Given the description of an element on the screen output the (x, y) to click on. 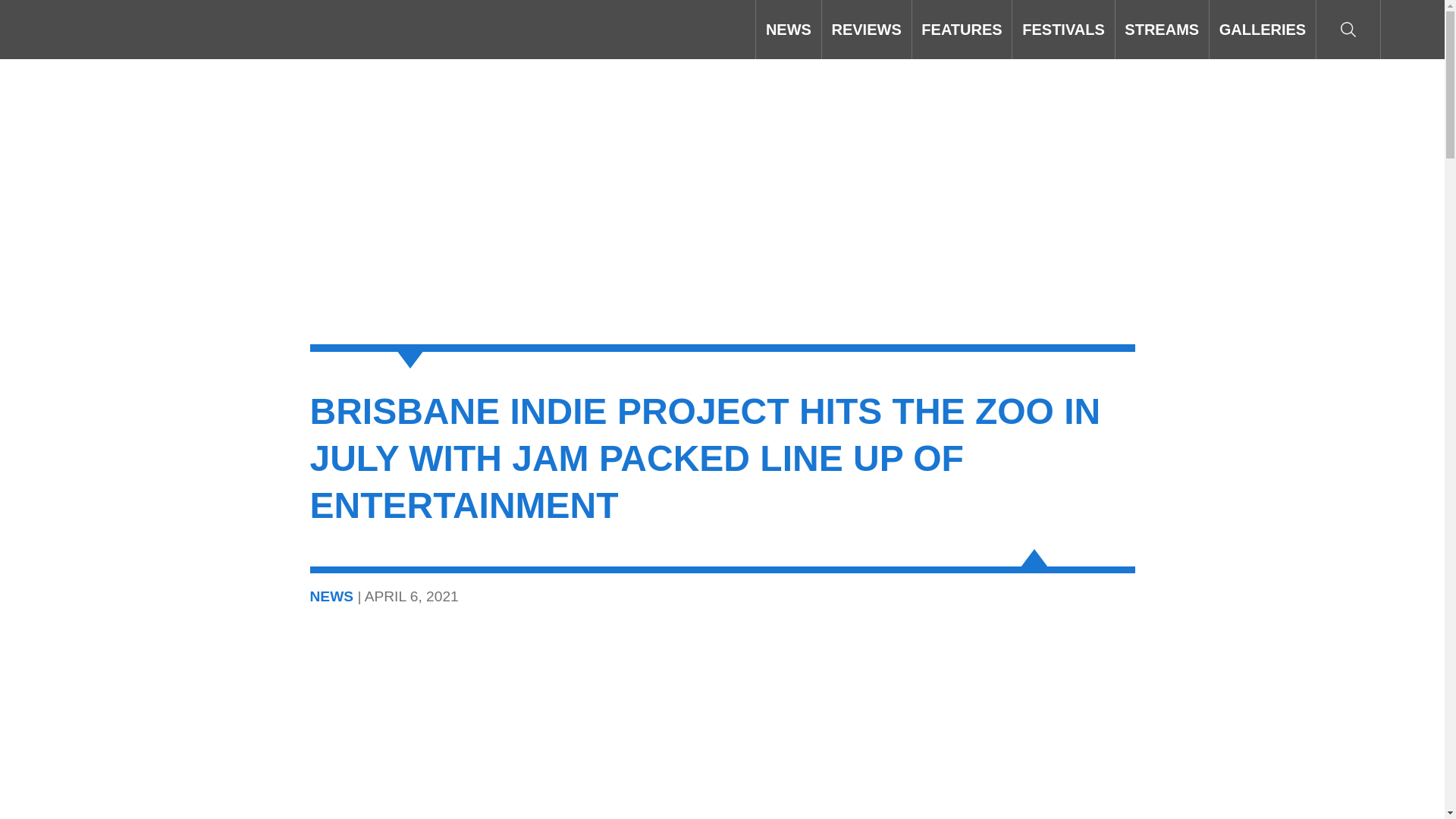
GALLERIES (1262, 29)
NEWS (788, 29)
FESTIVALS (1062, 29)
FEATURES (961, 29)
REVIEWS (866, 29)
STREAMS (1161, 29)
Search (1348, 29)
